Given the description of an element on the screen output the (x, y) to click on. 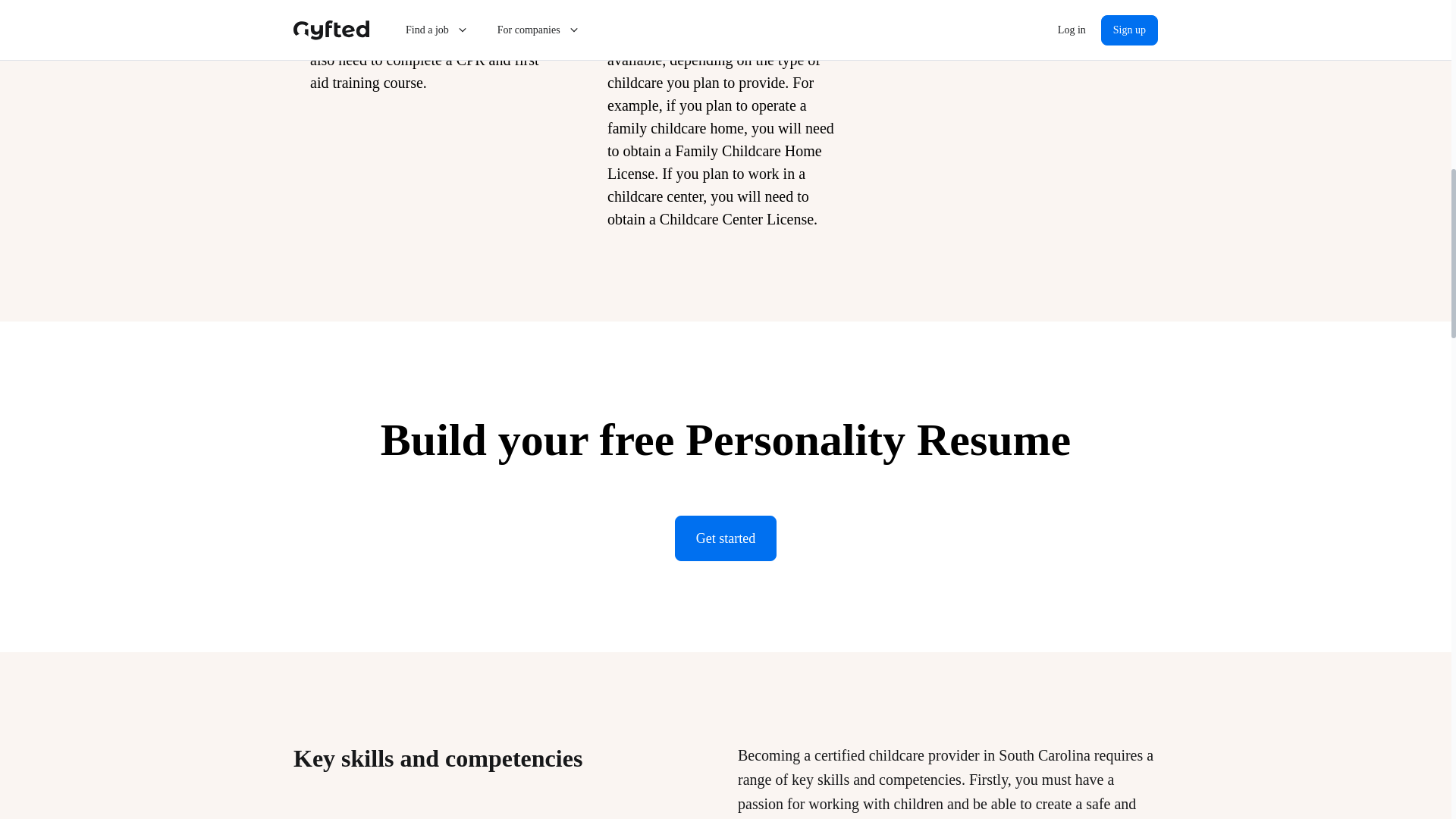
Get started (725, 538)
